Given the description of an element on the screen output the (x, y) to click on. 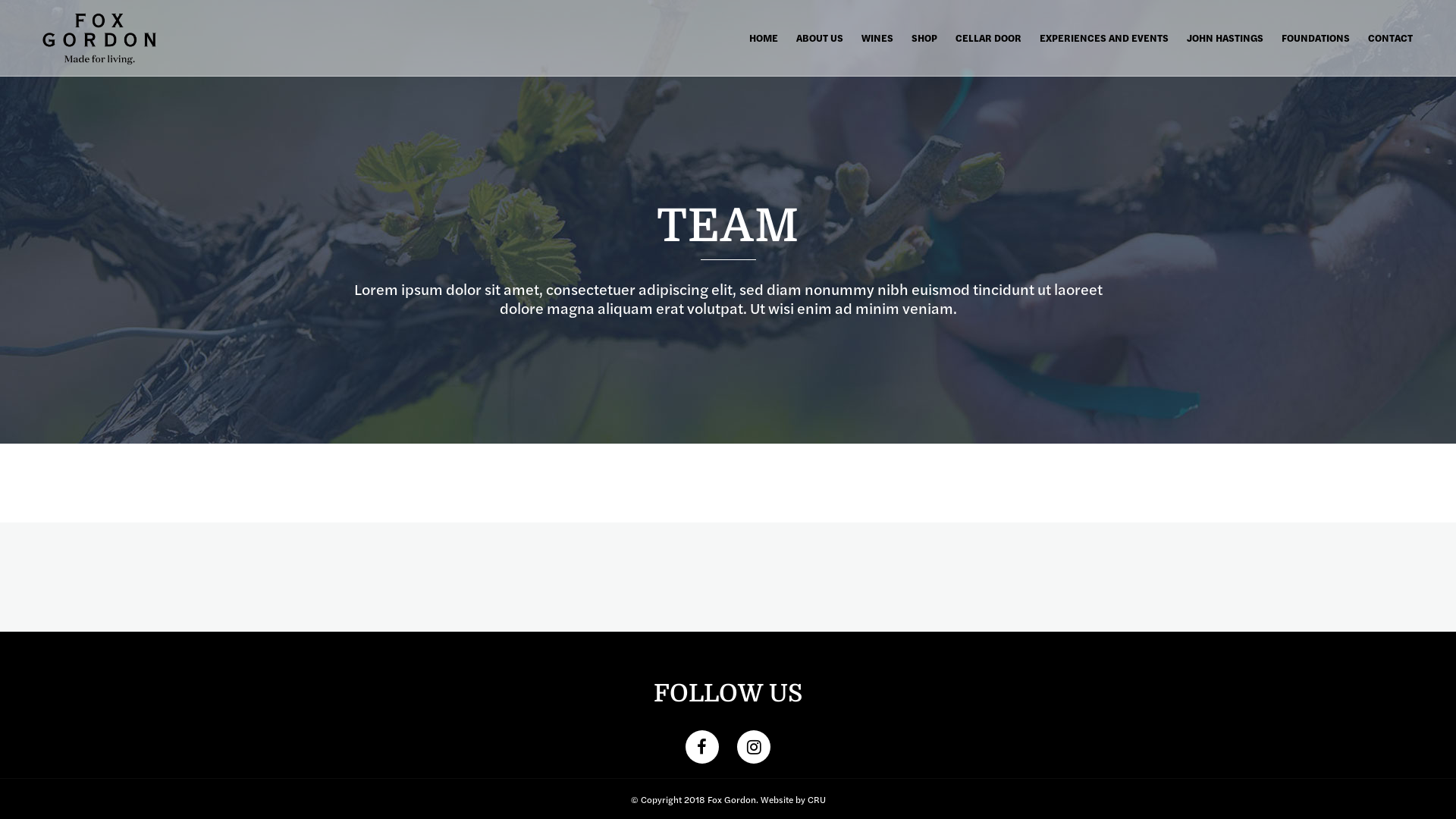
WINES Element type: text (877, 37)
ABOUT US Element type: text (819, 37)
FOUNDATIONS Element type: text (1315, 37)
SHOP Element type: text (924, 37)
CRU Element type: text (815, 798)
HOME Element type: text (763, 37)
EXPERIENCES AND EVENTS Element type: text (1103, 37)
CONTACT Element type: text (1389, 37)
JOHN HASTINGS Element type: text (1224, 37)
CELLAR DOOR Element type: text (988, 37)
